Given the description of an element on the screen output the (x, y) to click on. 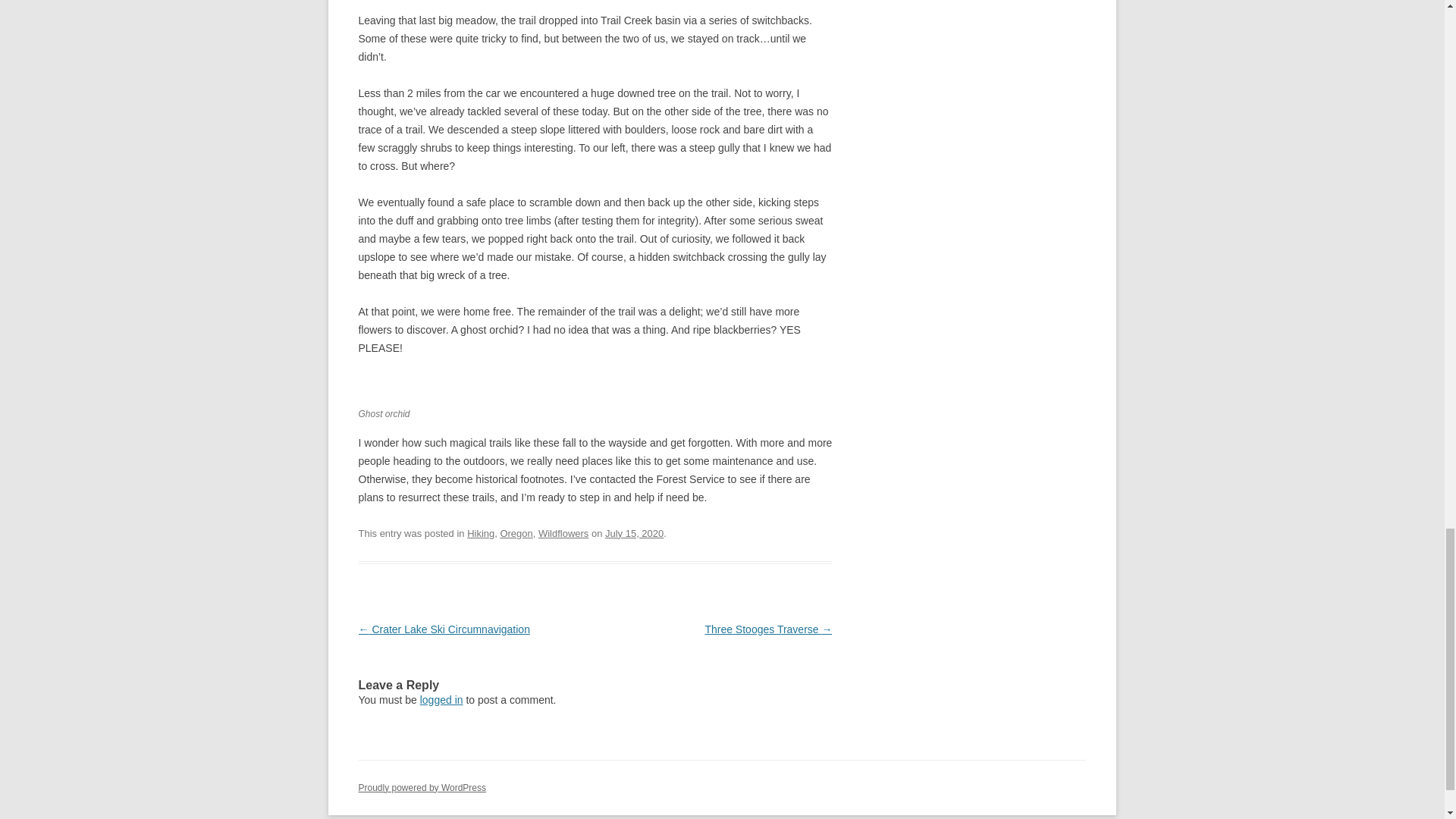
Wildflowers (563, 532)
July 15, 2020 (634, 532)
Semantic Personal Publishing Platform (422, 787)
8:03 am (634, 532)
logged in (441, 699)
Oregon (515, 532)
Hiking (481, 532)
